Given the description of an element on the screen output the (x, y) to click on. 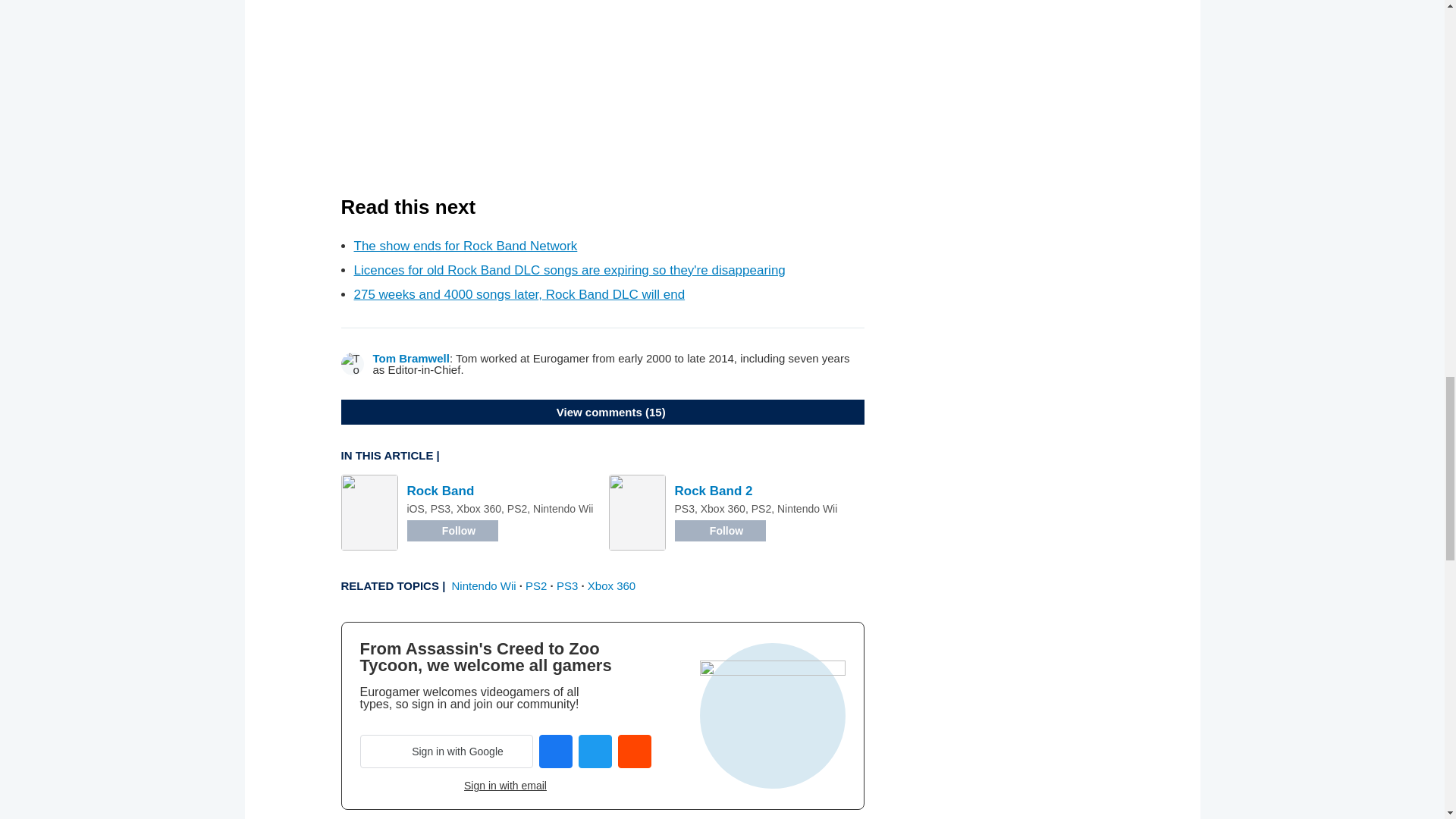
Tom Bramwell (410, 358)
Follow (451, 530)
275 weeks and 4000 songs later, Rock Band DLC will end (518, 294)
Nintendo Wii (483, 585)
Follow (720, 530)
Rock Band (440, 490)
The show ends for Rock Band Network (464, 246)
Rock Band 2 (713, 490)
